Given the description of an element on the screen output the (x, y) to click on. 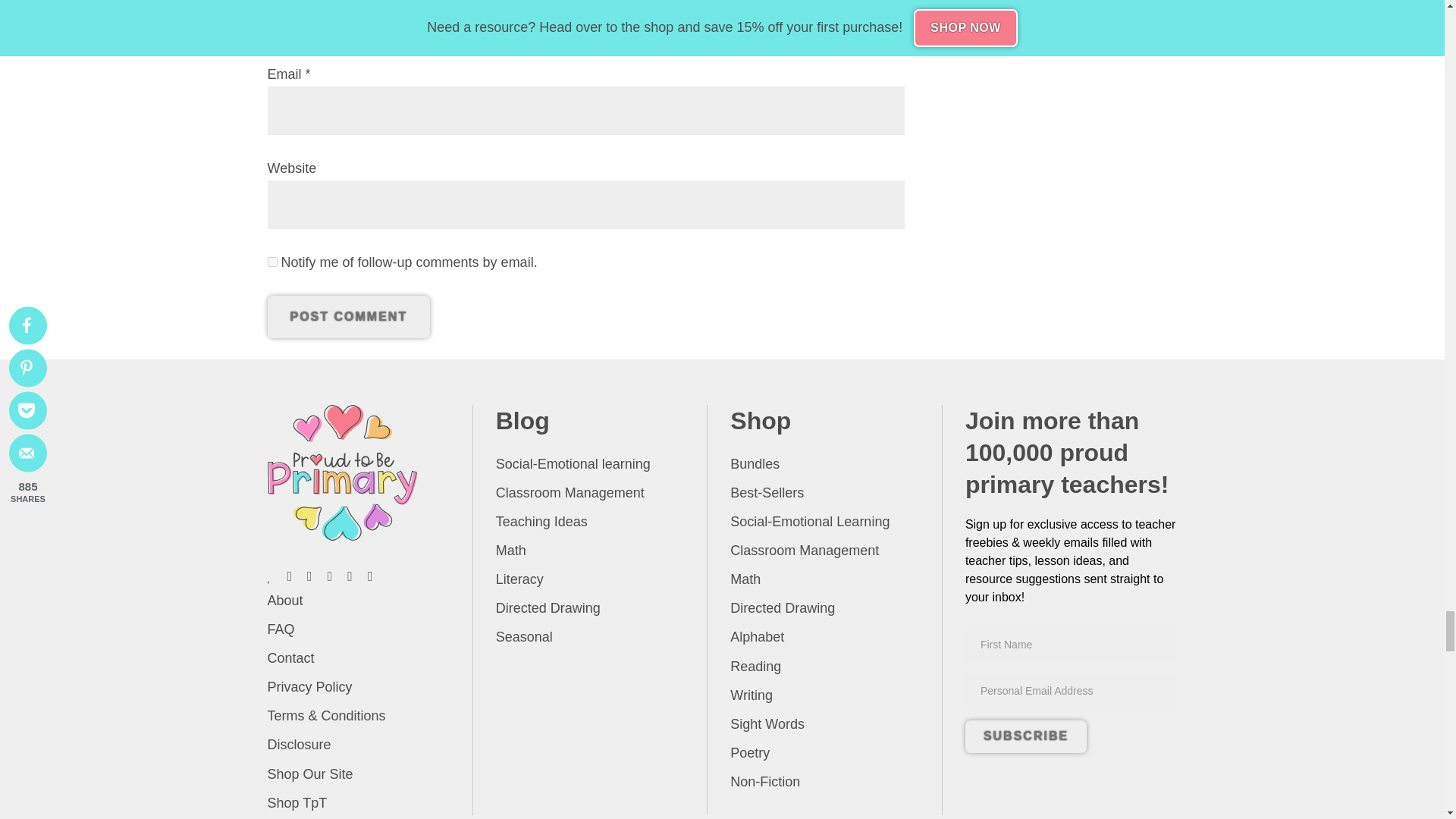
Subscribe (1025, 736)
Post Comment (347, 316)
subscribe (271, 261)
